Given the description of an element on the screen output the (x, y) to click on. 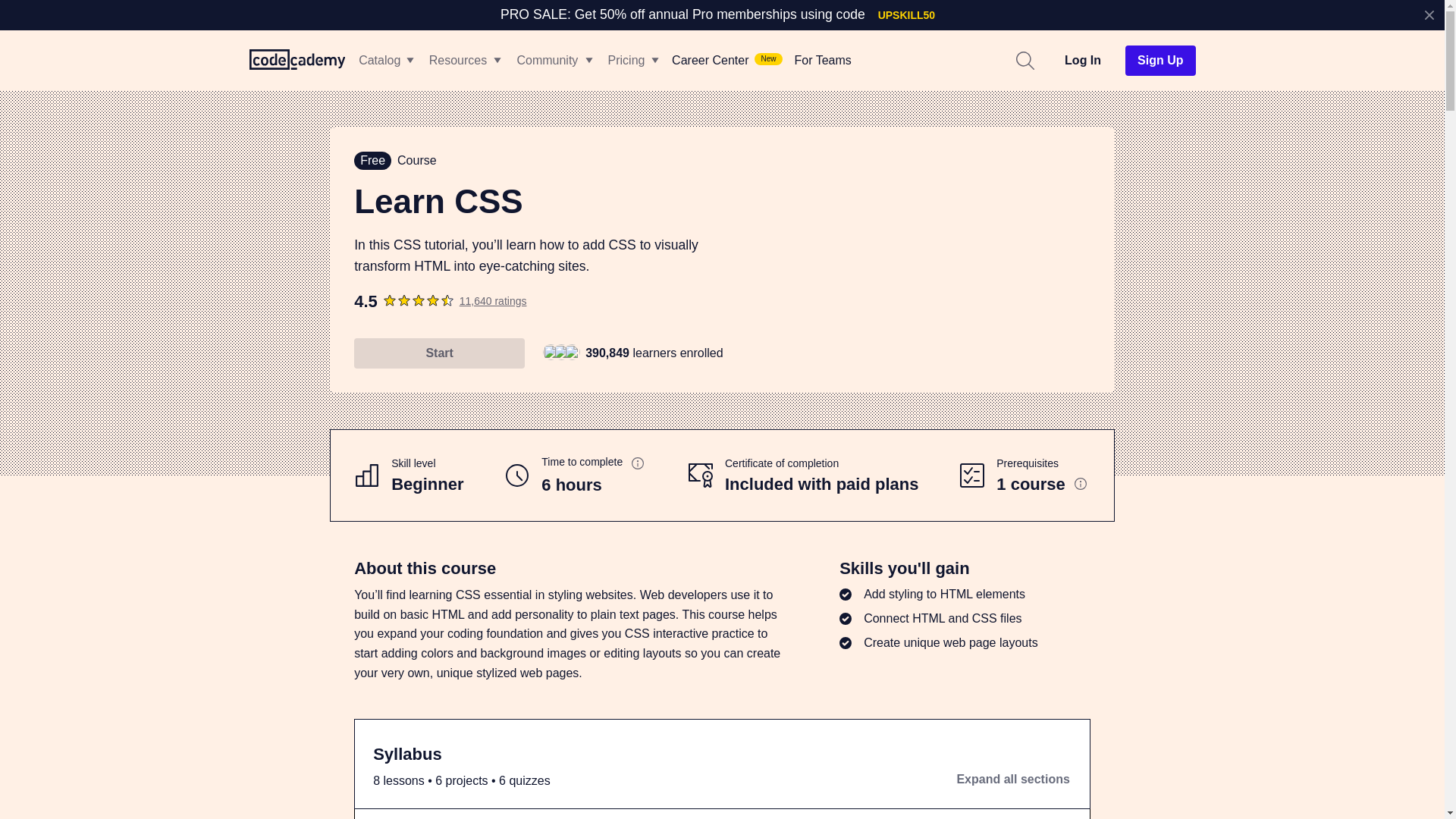
Catalog (378, 60)
Codecademy Logo (296, 58)
Pricing (632, 60)
Pricing (625, 60)
Resources (464, 60)
Catalog (385, 60)
Resources (464, 60)
Community (546, 60)
Codecademy Logo (296, 60)
Community (553, 60)
Resources (457, 60)
Catalog (385, 60)
UPSKILL50 (906, 15)
